Given the description of an element on the screen output the (x, y) to click on. 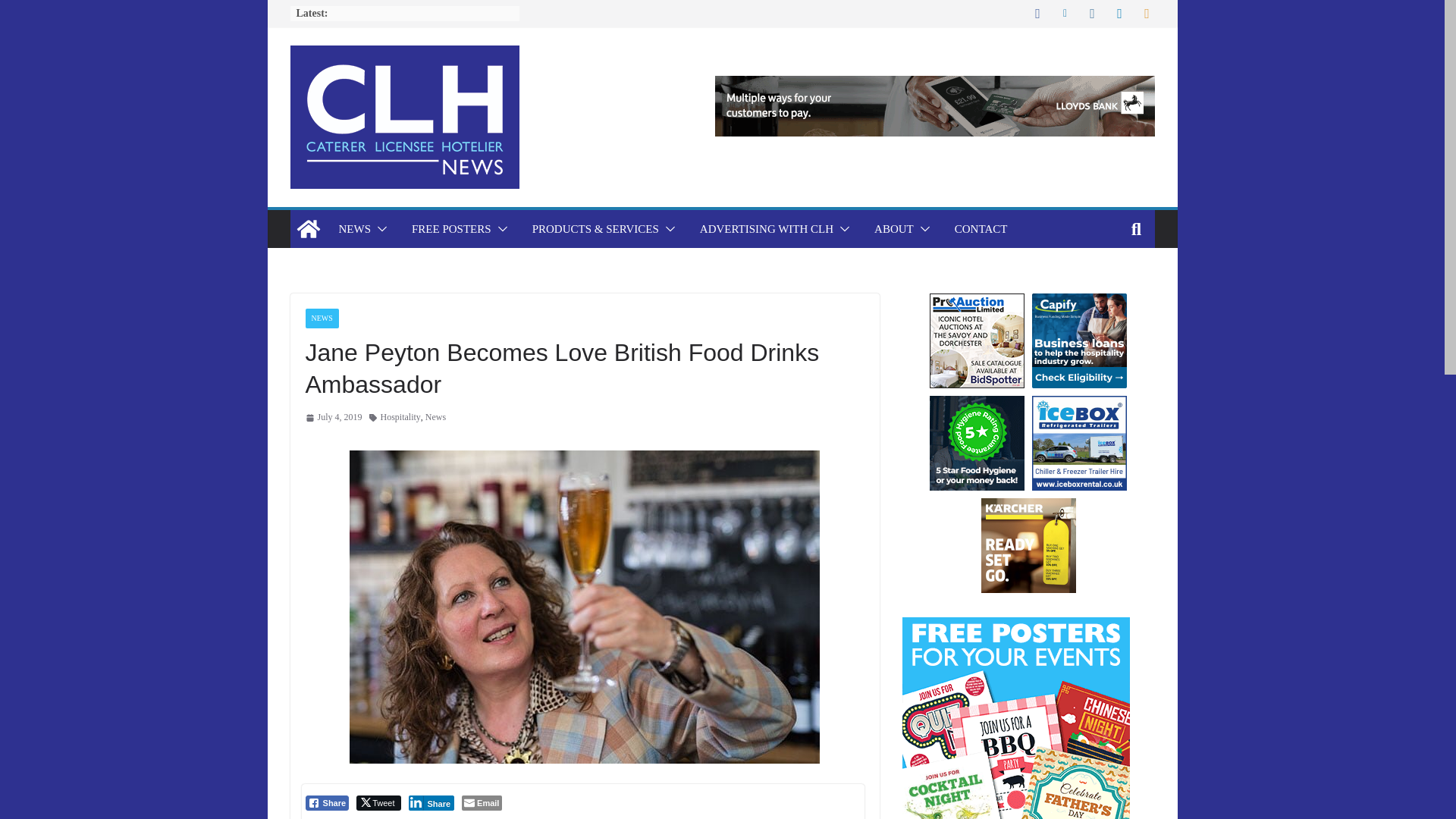
NEWS (354, 228)
12:35 pm (332, 417)
FREE POSTERS (452, 228)
CLH News: Caterer, Licensee and Hotelier News (307, 228)
